Given the description of an element on the screen output the (x, y) to click on. 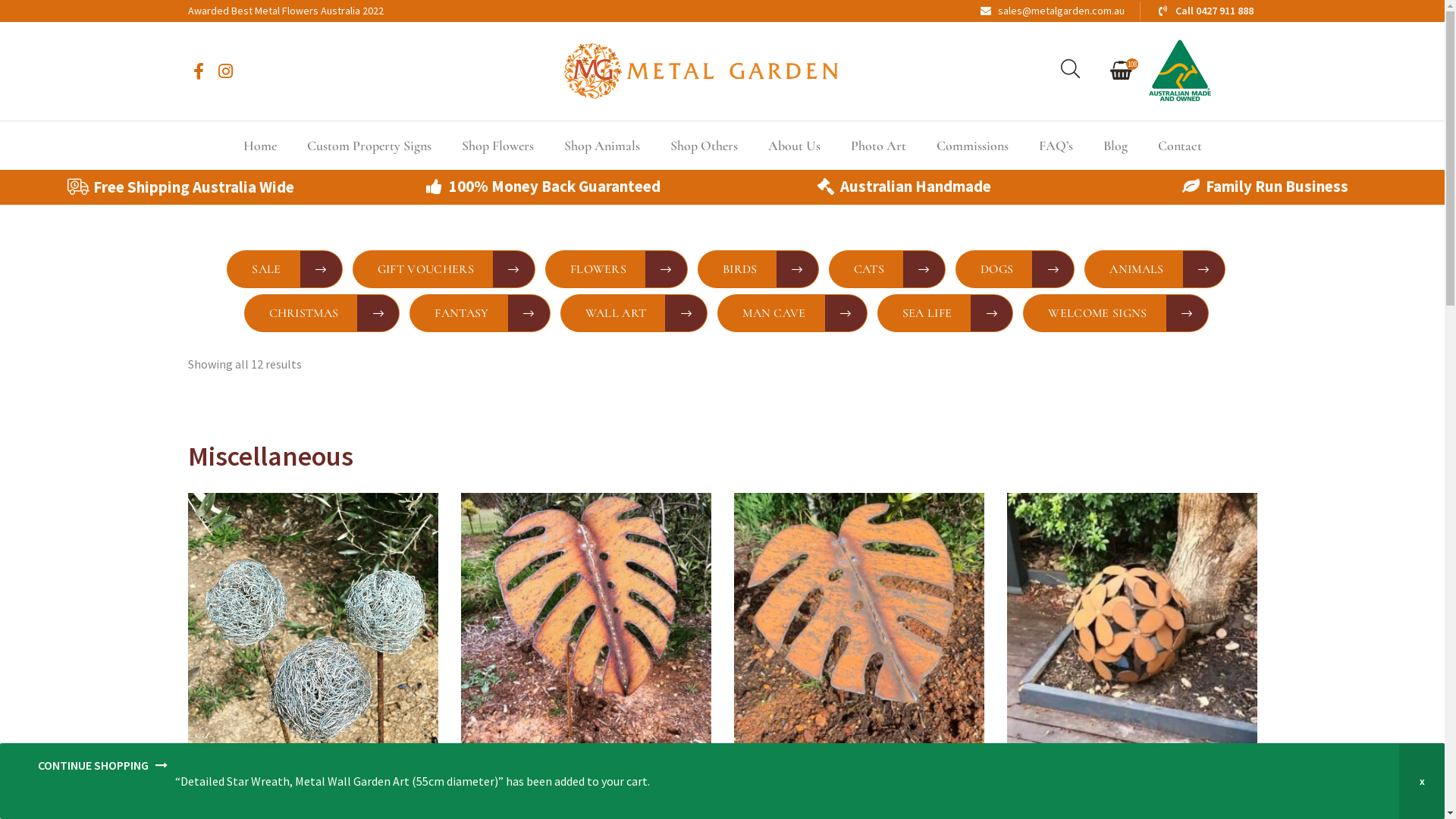
Contact Element type: text (1179, 145)
WELCOME SIGNS Element type: text (1115, 313)
FlowerBall, Metal Garden Art (55cm diameter) Element type: text (1131, 776)
GIFT VOUCHERS Element type: text (443, 269)
Call 0427 911 888 Element type: text (1204, 10)
Home Element type: text (259, 145)
MAN CAVE Element type: text (792, 313)
Custom Property Signs Element type: text (368, 145)
Shop Animals Element type: text (602, 145)
About Us Element type: text (793, 145)
SALE Element type: text (284, 269)
WALL ART Element type: text (634, 313)
sales@metalgarden.com.au Element type: text (1052, 10)
ANIMALS Element type: text (1154, 269)
CHRISTMAS Element type: text (322, 313)
Photo Art Element type: text (878, 145)
DOGS Element type: text (1014, 269)
SEA LIFE Element type: text (945, 313)
Commissions Element type: text (971, 145)
108 Element type: text (1126, 70)
CATS Element type: text (886, 269)
Shop Flowers Element type: text (497, 145)
Shop Others Element type: text (703, 145)
Blog Element type: text (1114, 145)
BIRDS Element type: text (758, 269)
FANTASY Element type: text (479, 313)
FLOWERS Element type: text (616, 269)
CONTINUE SHOPPING Element type: text (102, 780)
